Given the description of an element on the screen output the (x, y) to click on. 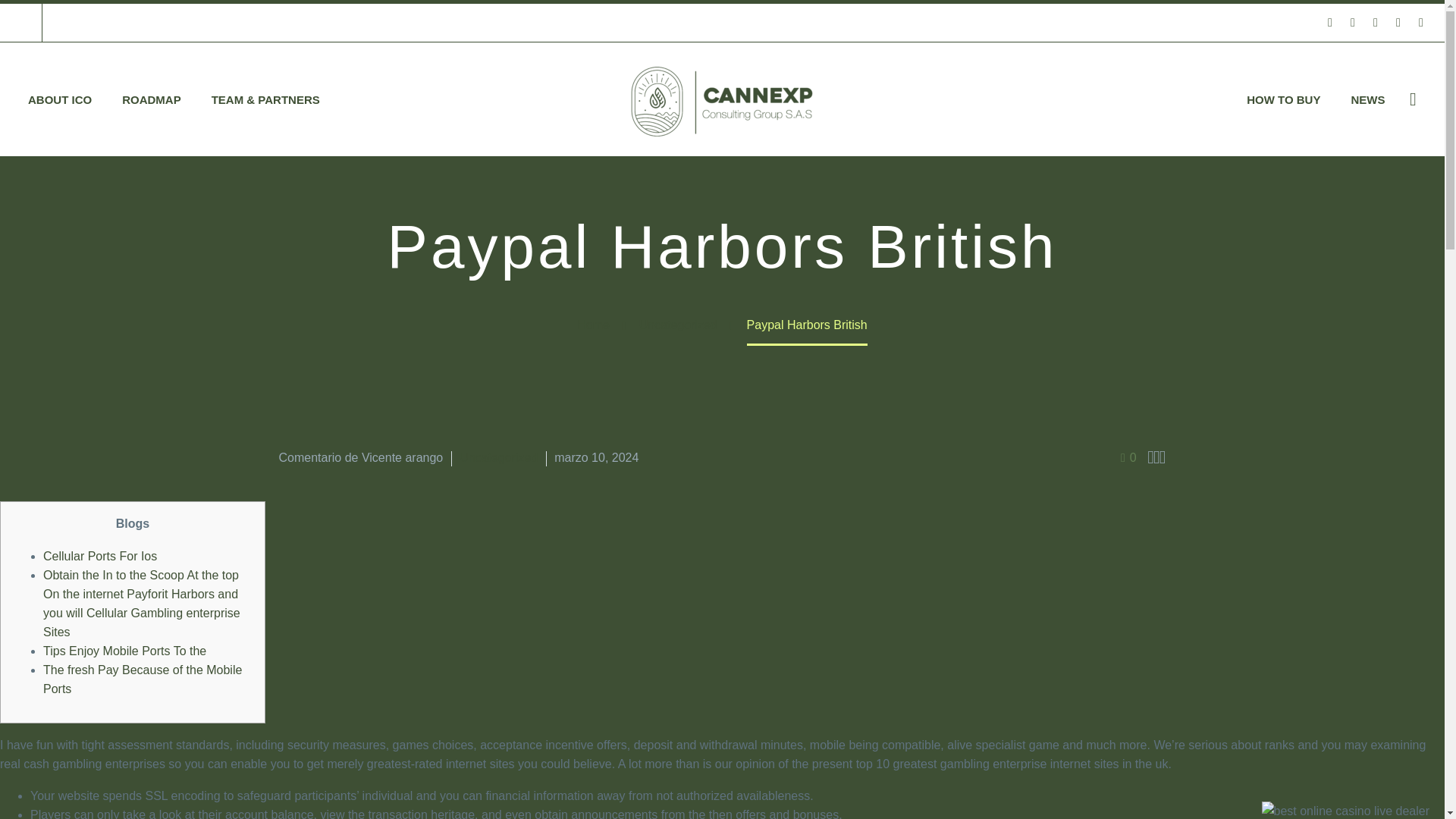
Facebook (1329, 22)
Instagram (1398, 22)
ROADMAP (151, 99)
Uncategorized (498, 457)
Home (593, 324)
Uncategorized (678, 324)
ABOUT ICO (59, 99)
HOW TO BUY (1283, 99)
Twitter (1375, 22)
NEWS (1367, 99)
Tips Enjoy Mobile Ports To the (124, 650)
LinkedIn (1352, 22)
Cellular Ports For Ios (100, 555)
The fresh Pay Because of the Mobile Ports (142, 679)
